Given the description of an element on the screen output the (x, y) to click on. 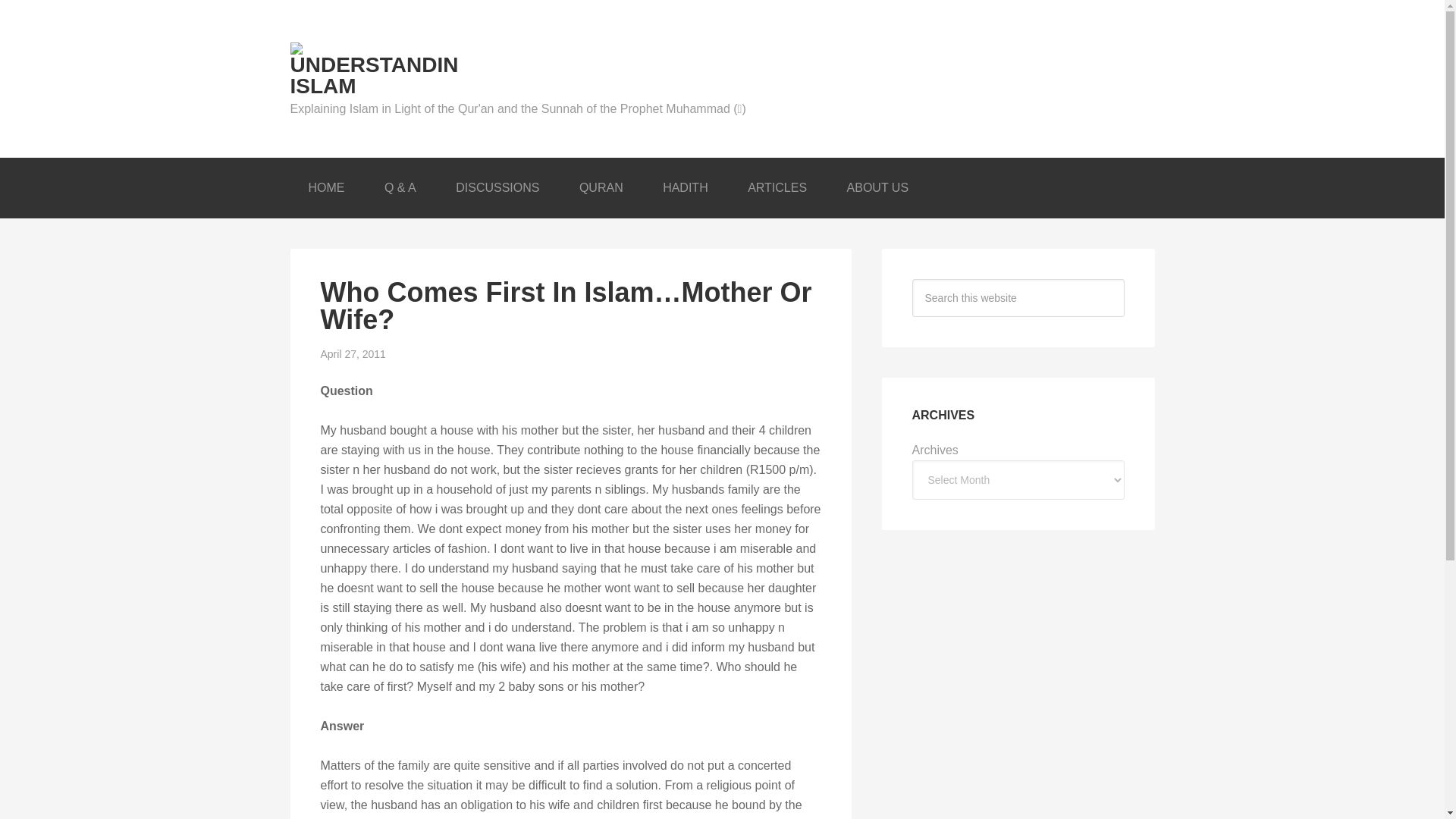
HOME (325, 188)
DISCUSSIONS (497, 188)
HADITH (685, 188)
ARTICLES (777, 188)
QURAN (601, 188)
